Given the description of an element on the screen output the (x, y) to click on. 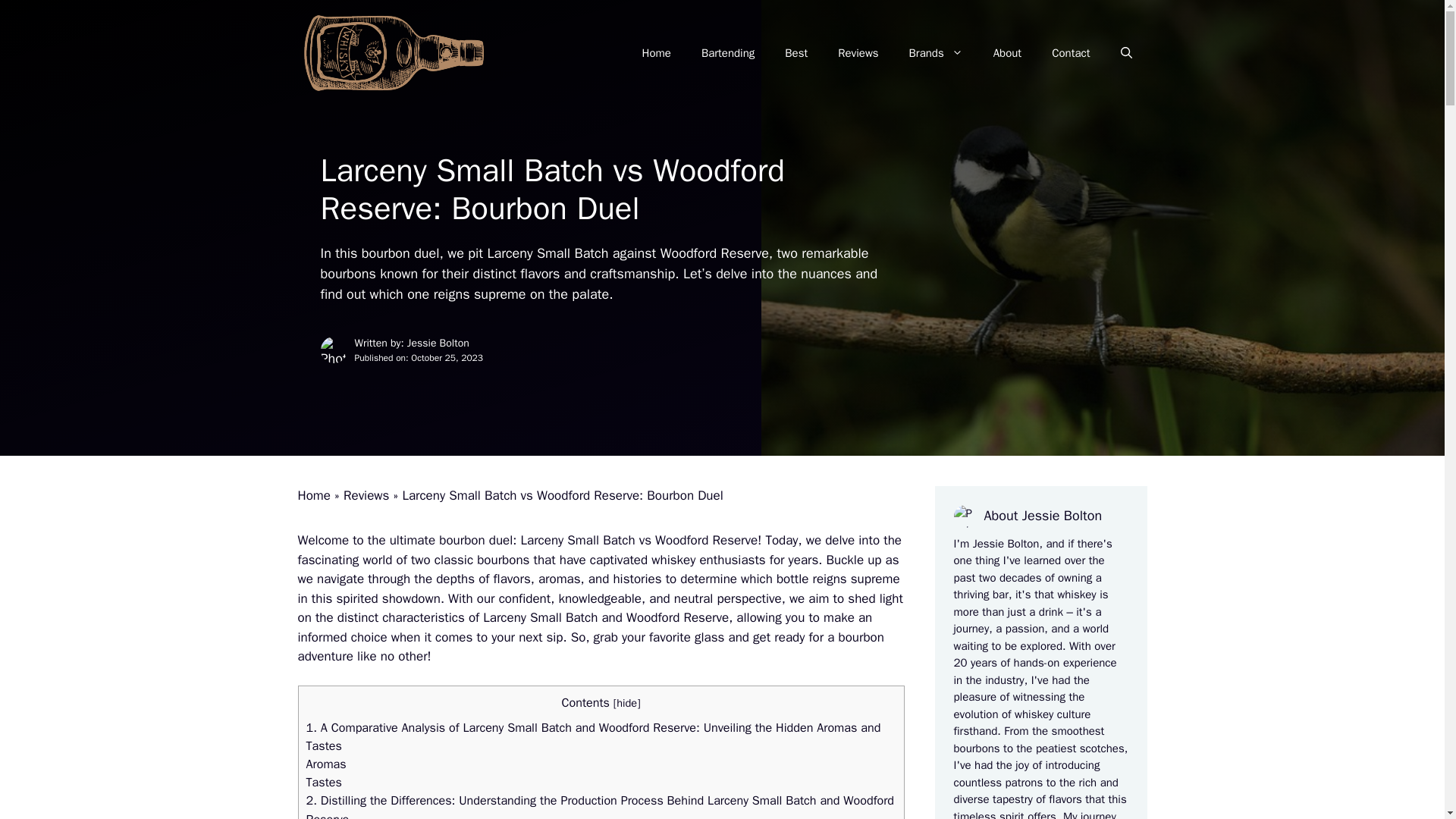
Tastes (323, 781)
Bartending (727, 53)
hide (626, 703)
Contact (1070, 53)
Aromas (325, 763)
Brands (935, 53)
Home (313, 495)
Reviews (365, 495)
About (1007, 53)
